Given the description of an element on the screen output the (x, y) to click on. 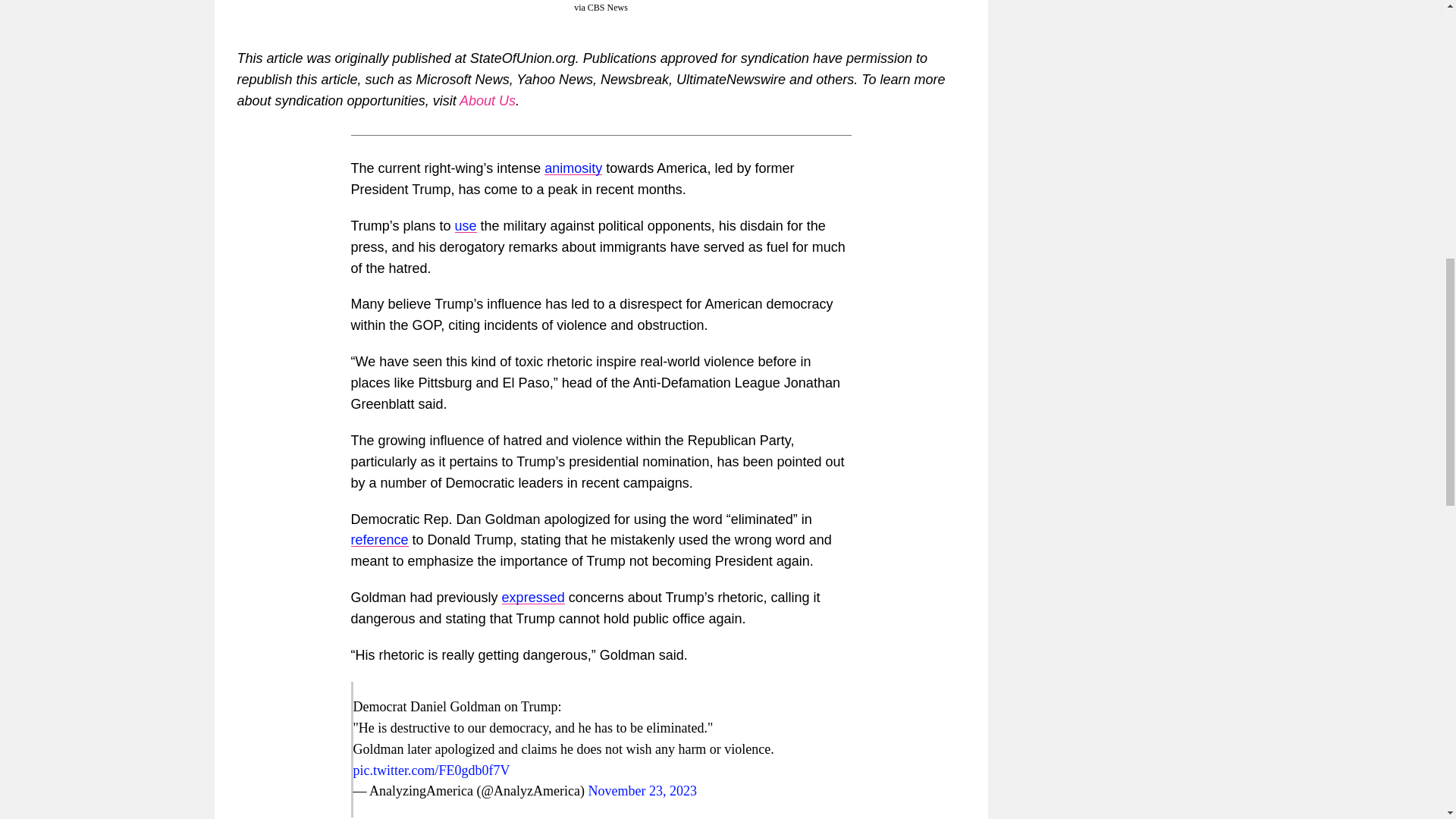
reference (378, 539)
use (465, 225)
About Us (487, 100)
animosity (573, 168)
